Given the description of an element on the screen output the (x, y) to click on. 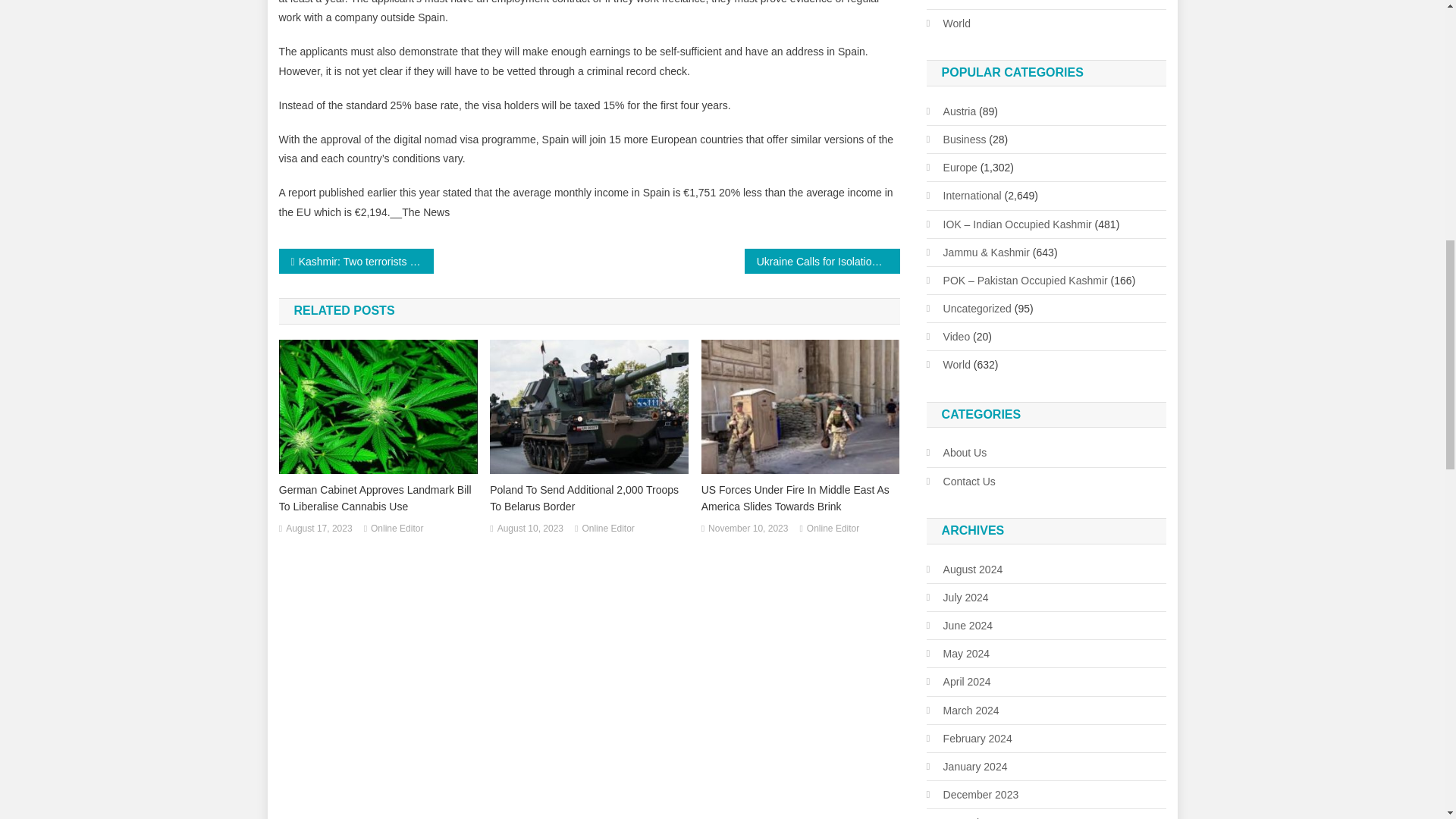
Poland To Send Additional 2,000 Troops To Belarus Border (588, 498)
August 10, 2023 (530, 528)
Online Editor (397, 528)
August 17, 2023 (318, 528)
